Given the description of an element on the screen output the (x, y) to click on. 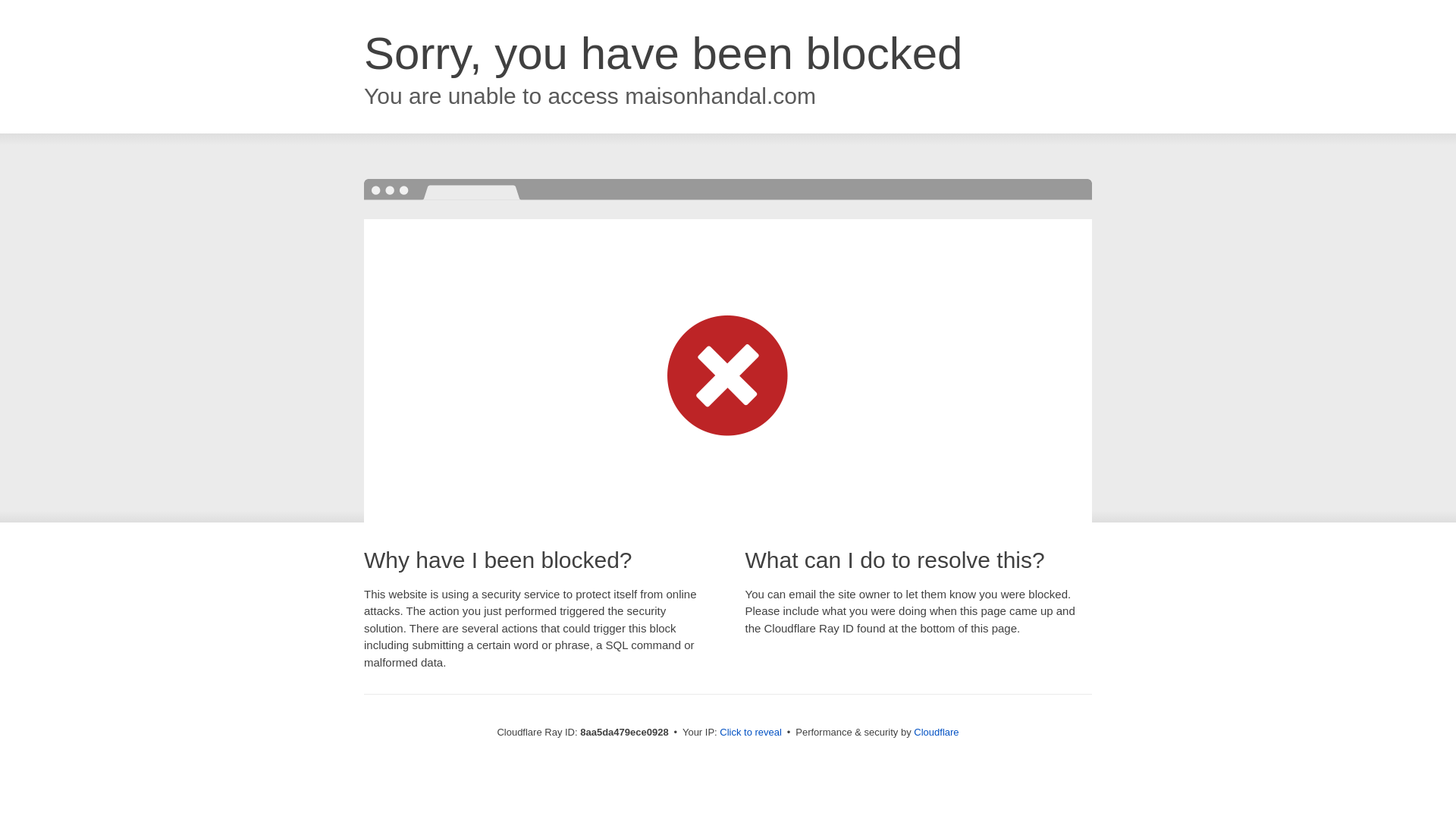
Cloudflare (936, 731)
Click to reveal (750, 732)
